Given the description of an element on the screen output the (x, y) to click on. 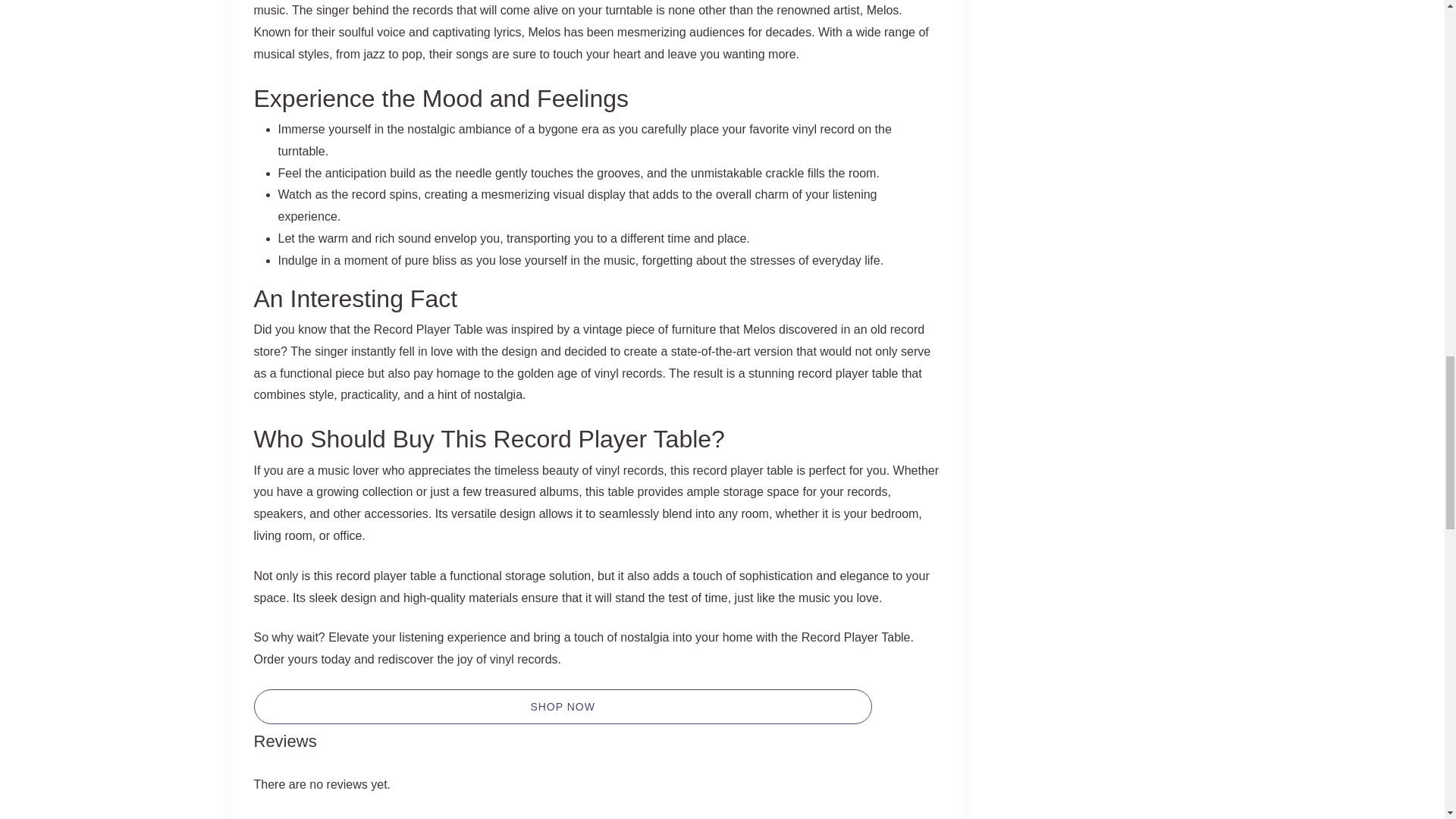
SHOP NOW (561, 706)
